Given the description of an element on the screen output the (x, y) to click on. 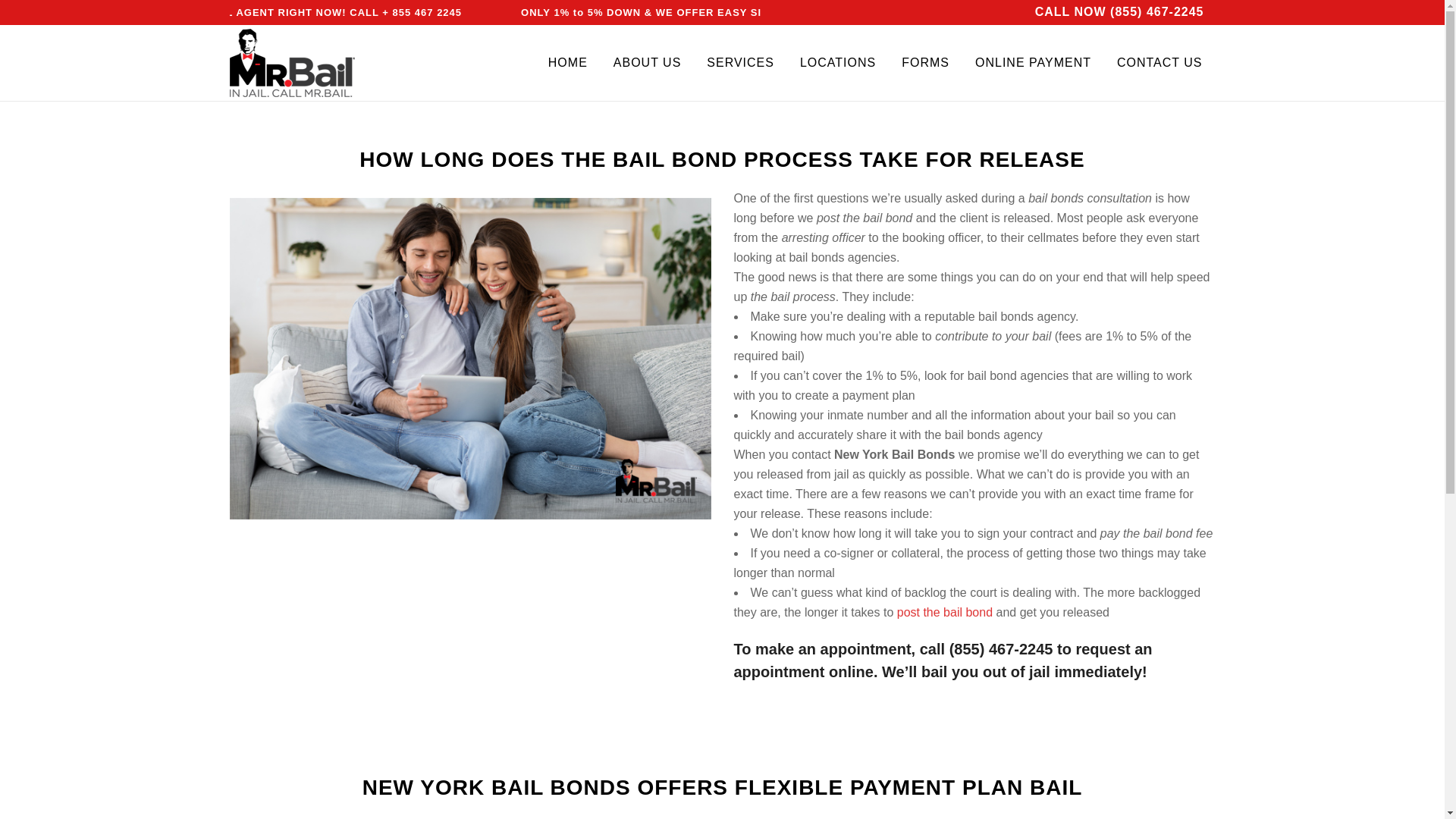
ABOUT US (646, 62)
Porterville Bail Bond Store (1000, 648)
LOCATIONS (837, 62)
SERVICES (740, 62)
CONTACT US (1159, 62)
ONLINE PAYMENT (1032, 62)
FORMS (925, 62)
